Given the description of an element on the screen output the (x, y) to click on. 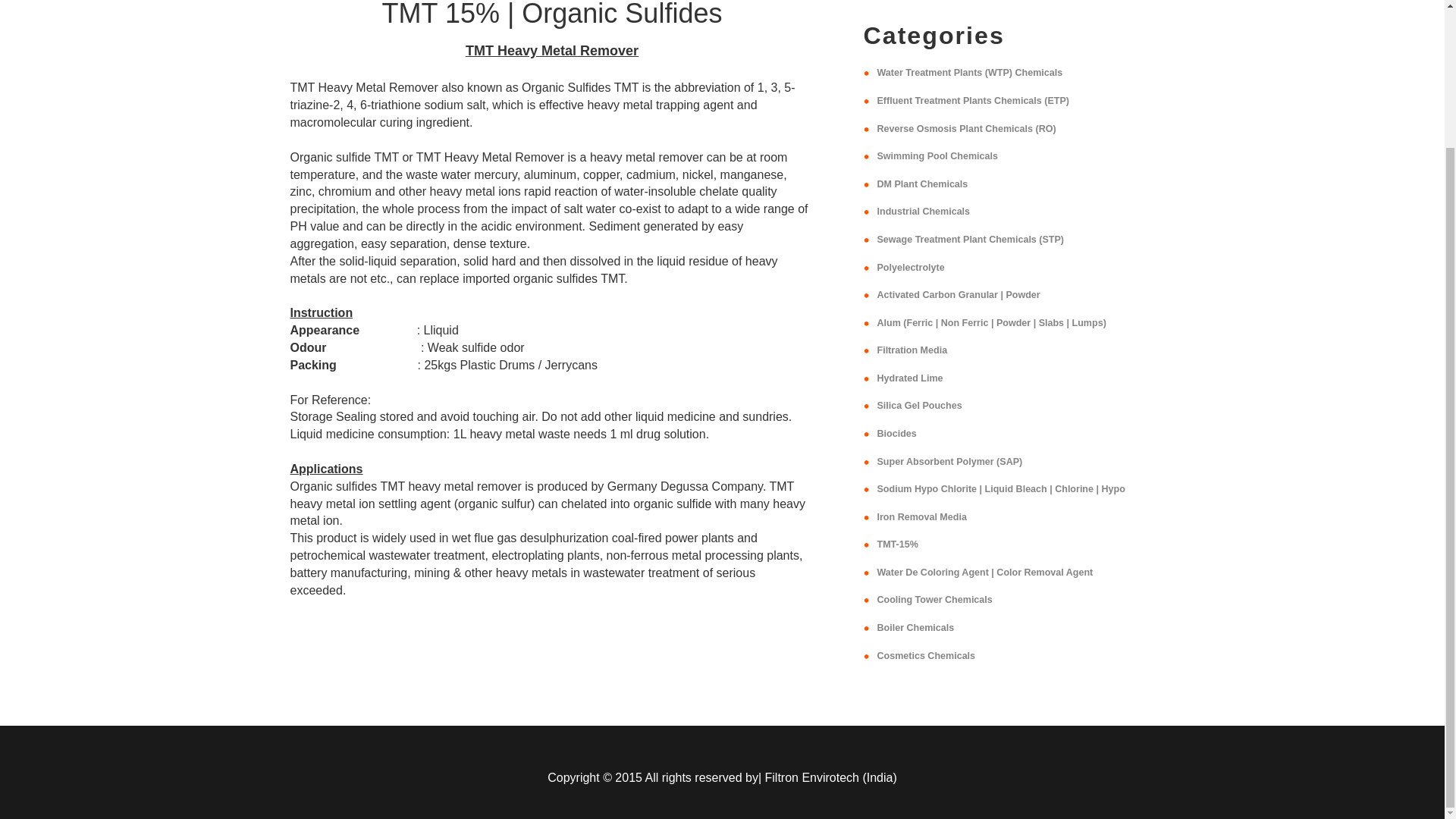
Swimming Pool Chemicals (936, 155)
Industrial Chemicals (922, 211)
Filtration Media (911, 349)
Silica Gel Pouches (918, 405)
Cooling Tower Chemicals (933, 599)
DM Plant Chemicals (922, 184)
Hydrated Lime (909, 378)
Iron Removal Media (921, 516)
Polyelectrolyte (909, 267)
Boiler Chemicals (914, 627)
Biocides (895, 433)
Cosmetics Chemicals (925, 655)
